Given the description of an element on the screen output the (x, y) to click on. 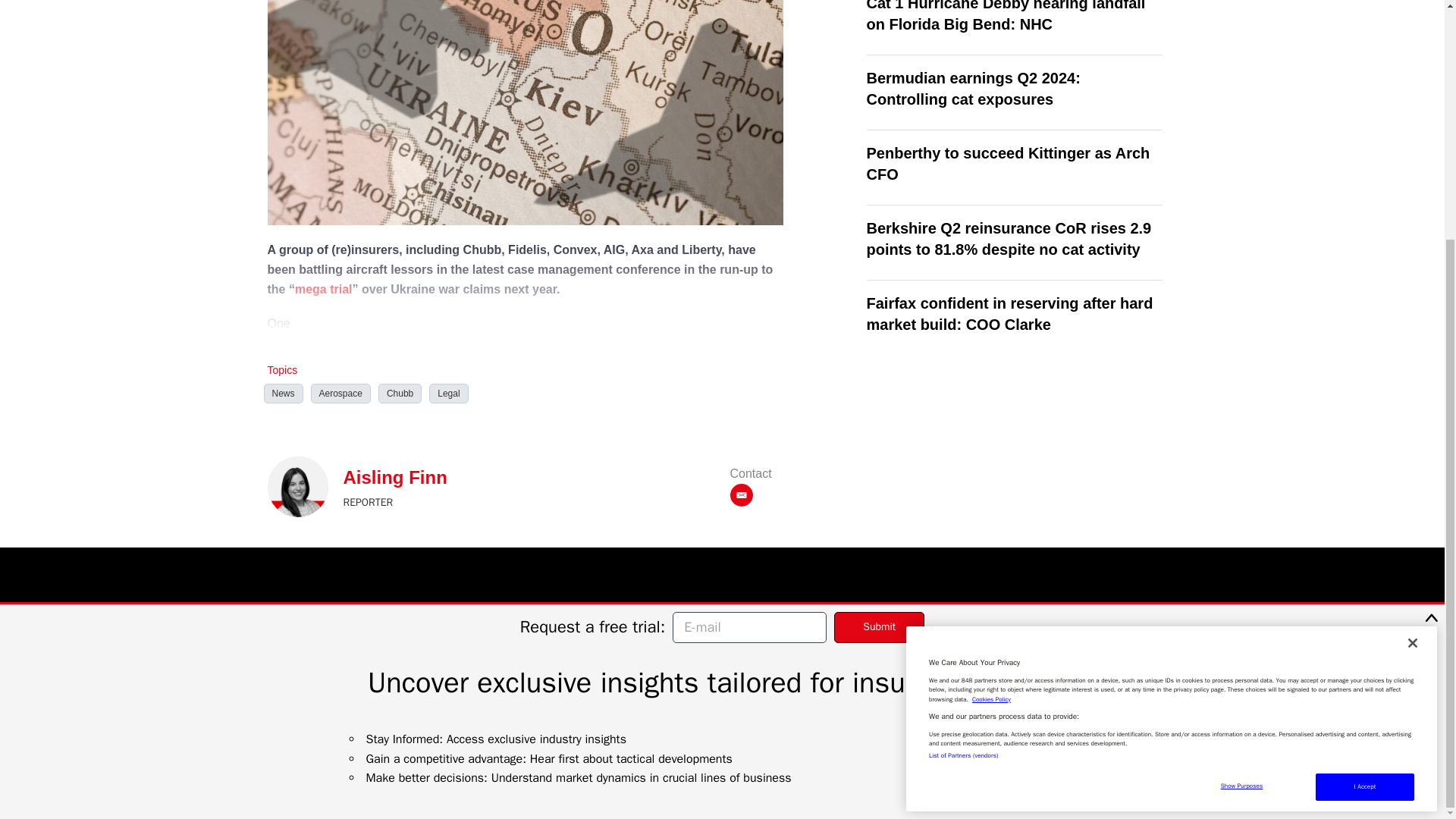
Submit (879, 297)
